Given the description of an element on the screen output the (x, y) to click on. 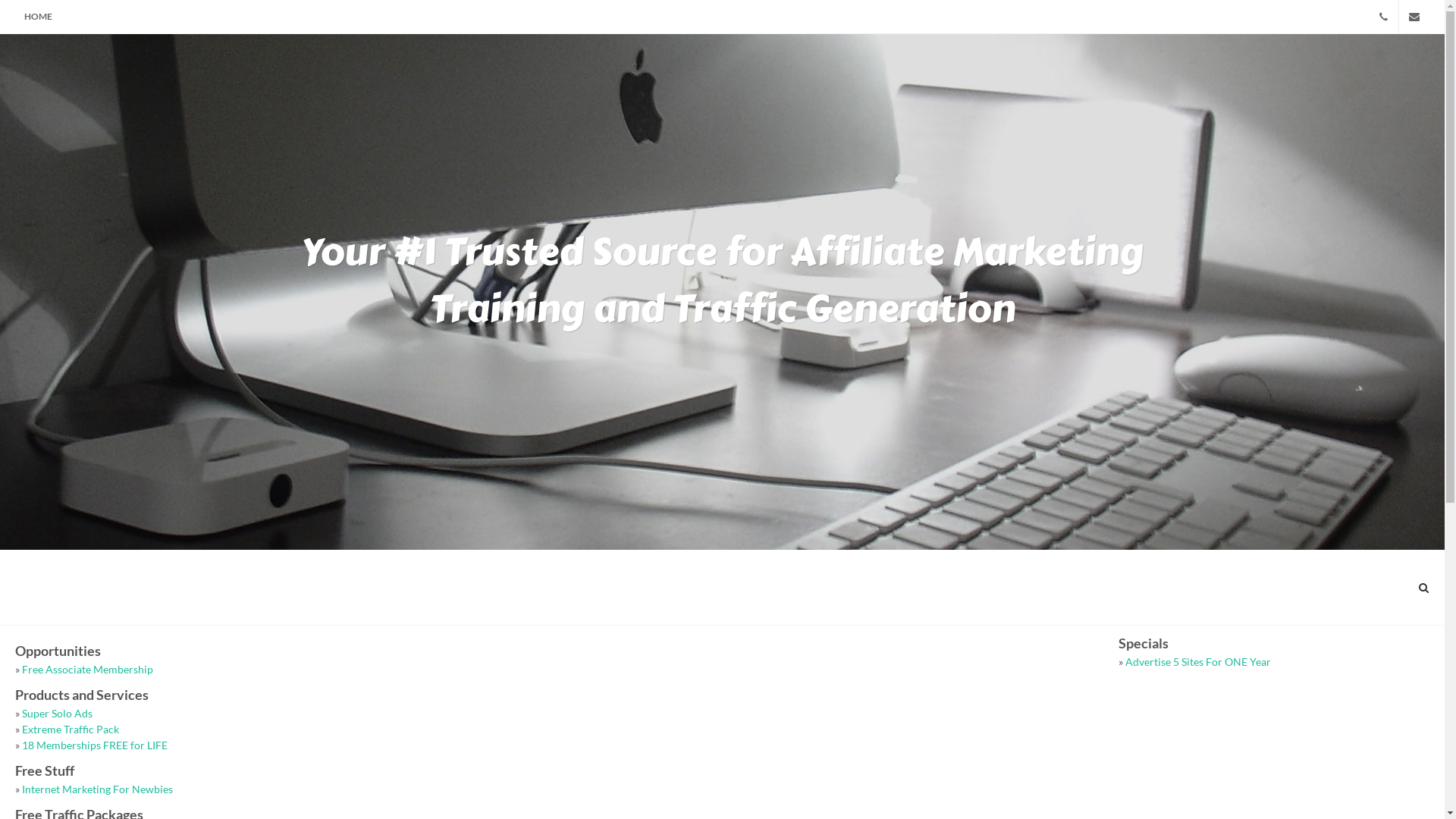
                                                   Element type: hover (1383, 16)
Internet Marketing For Newbies Element type: text (96, 788)
Super Solo Ads Element type: text (56, 712)
Free Associate Membership Element type: text (87, 668)
Extreme Traffic Pack Element type: text (70, 728)
HOME Element type: text (38, 16)
18 Memberships FREE for LIFE Element type: text (94, 744)
Advertise 5 Sites For ONE Year Element type: text (1197, 661)
